Given the description of an element on the screen output the (x, y) to click on. 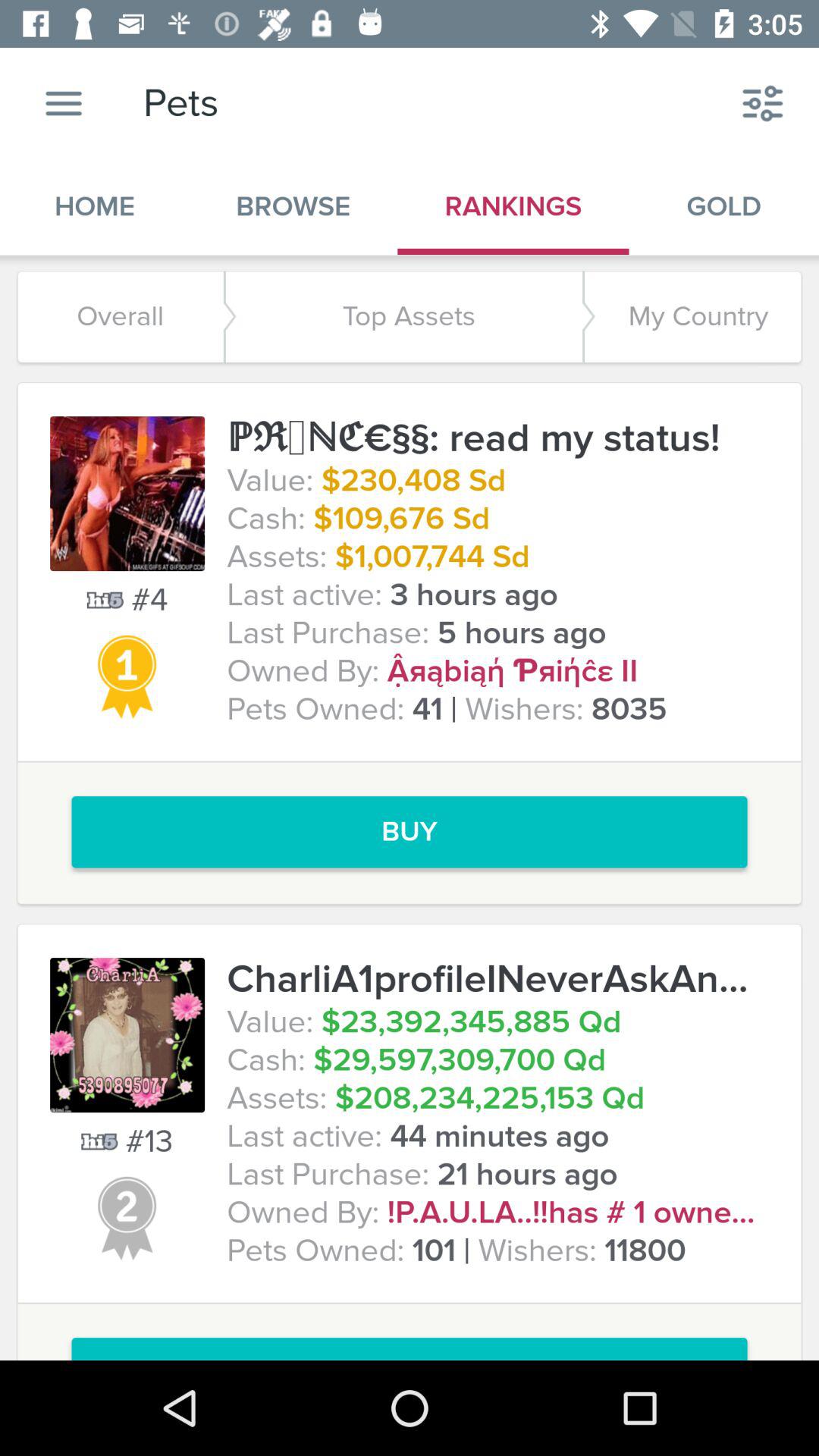
turn on icon next to the pets (63, 103)
